Given the description of an element on the screen output the (x, y) to click on. 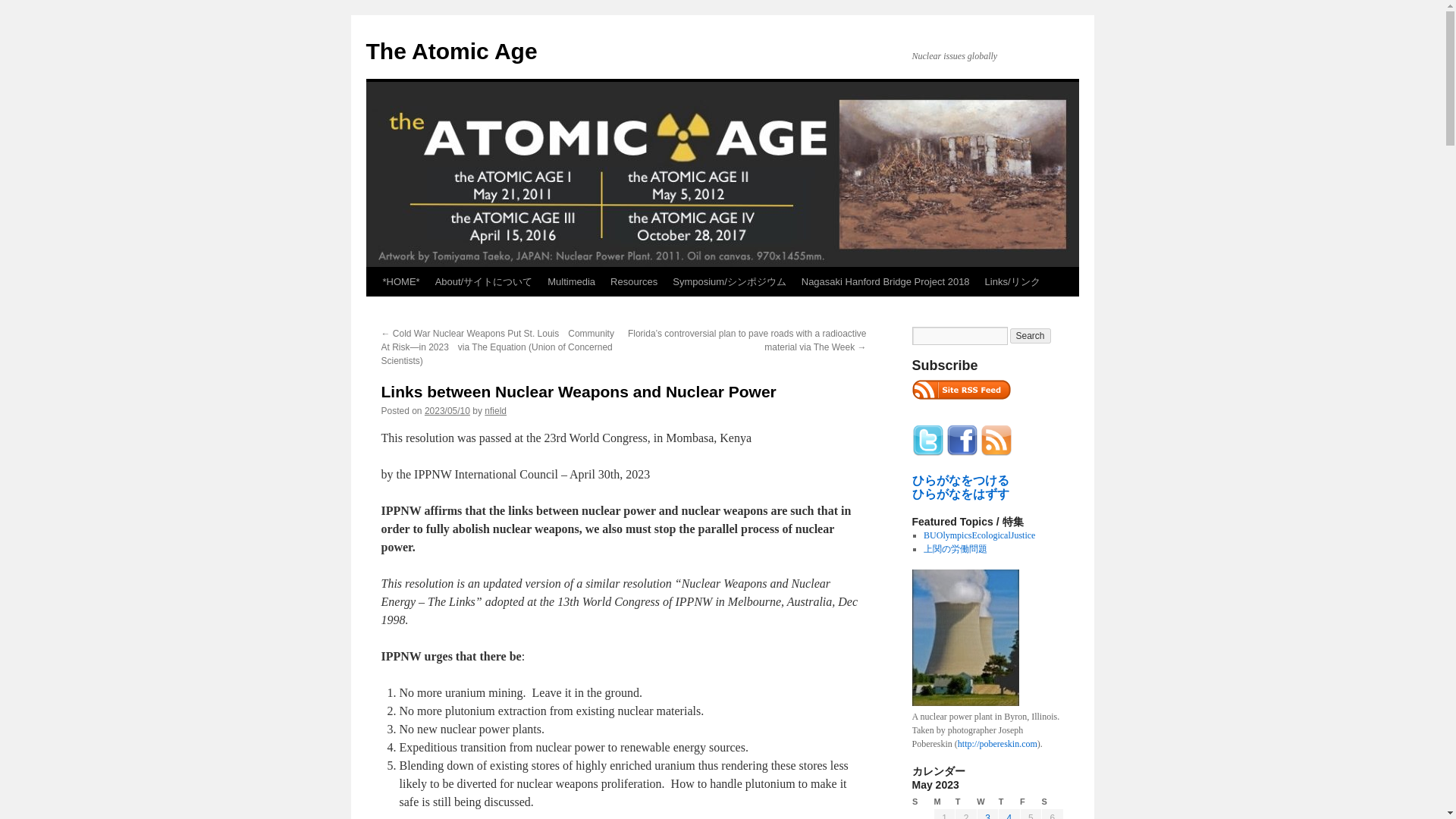
RSS 2.0 feed for posts (960, 403)
nfield (495, 410)
Resources (633, 281)
Monday (944, 801)
 latest posts (960, 389)
TokyoOlympicsEcologicalJustice (979, 534)
Search (1030, 335)
Saturday (1052, 801)
Tuesday (965, 801)
The Atomic Age (451, 50)
